Given the description of an element on the screen output the (x, y) to click on. 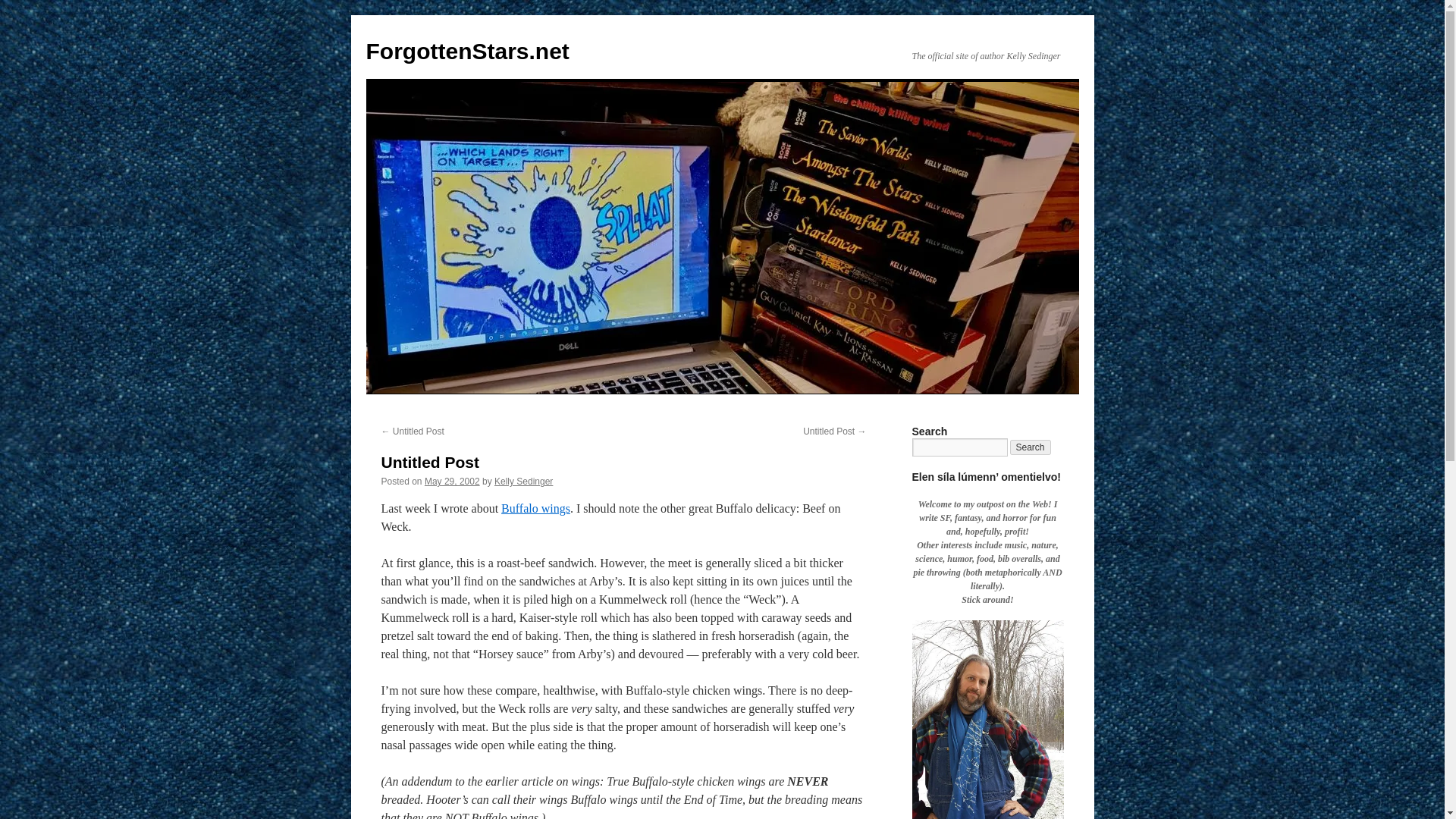
May 29, 2002 (452, 480)
12:37 am (452, 480)
View all posts by Kelly Sedinger (524, 480)
Kelly Sedinger (524, 480)
Buffalo wings (535, 508)
ForgottenStars.net (467, 50)
Search (1030, 447)
Search (1030, 447)
